Given the description of an element on the screen output the (x, y) to click on. 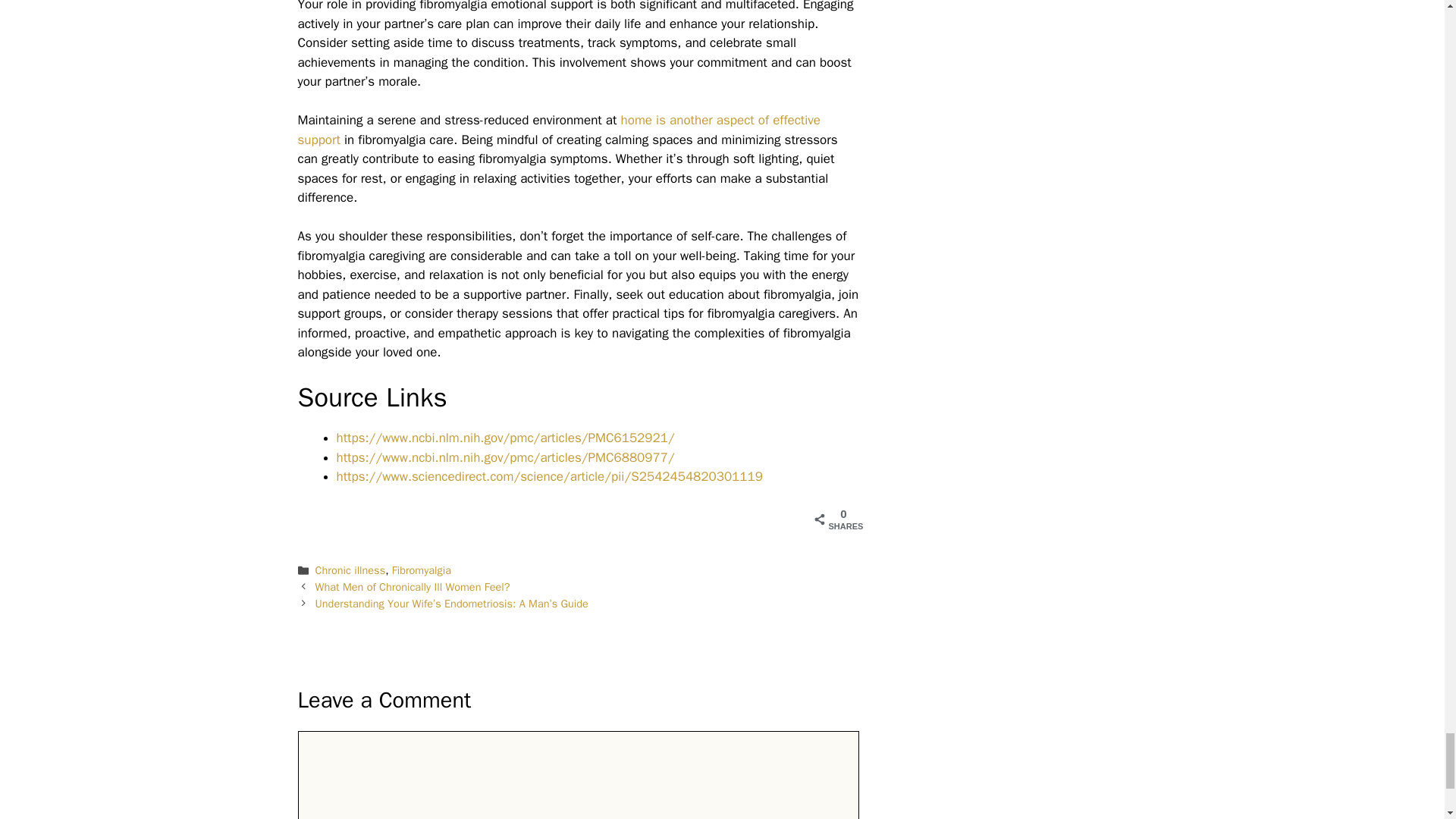
Fibromyalgia (421, 570)
Chronic illness (350, 570)
home is another aspect of effective support (559, 130)
What Men of Chronically Ill Women Feel? (413, 586)
